Given the description of an element on the screen output the (x, y) to click on. 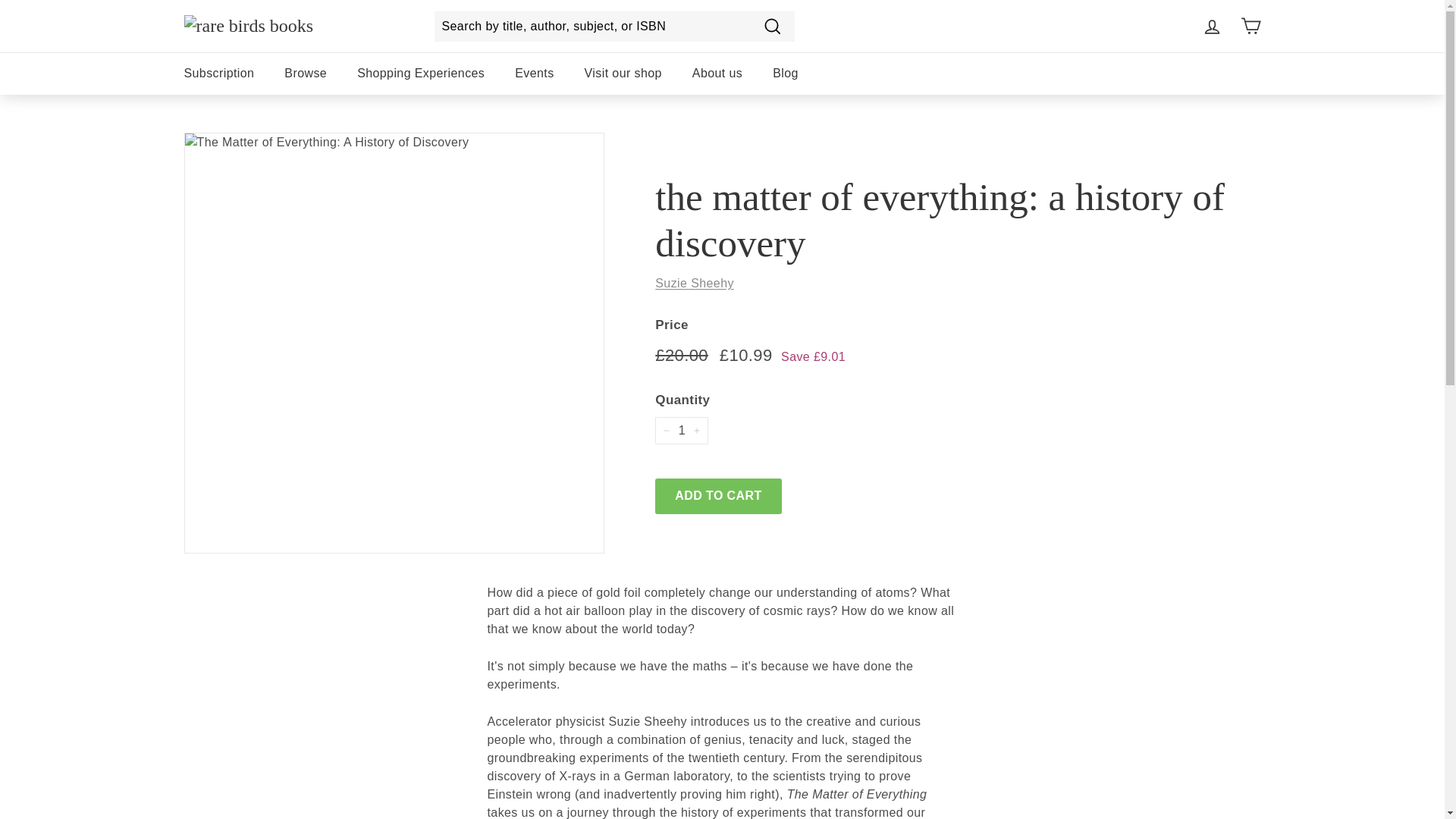
Events (534, 73)
1 (681, 430)
Subscription (218, 73)
Suzie Sheehy (694, 282)
Visit our shop (623, 73)
Shopping Experiences (420, 73)
Browse (305, 73)
